Given the description of an element on the screen output the (x, y) to click on. 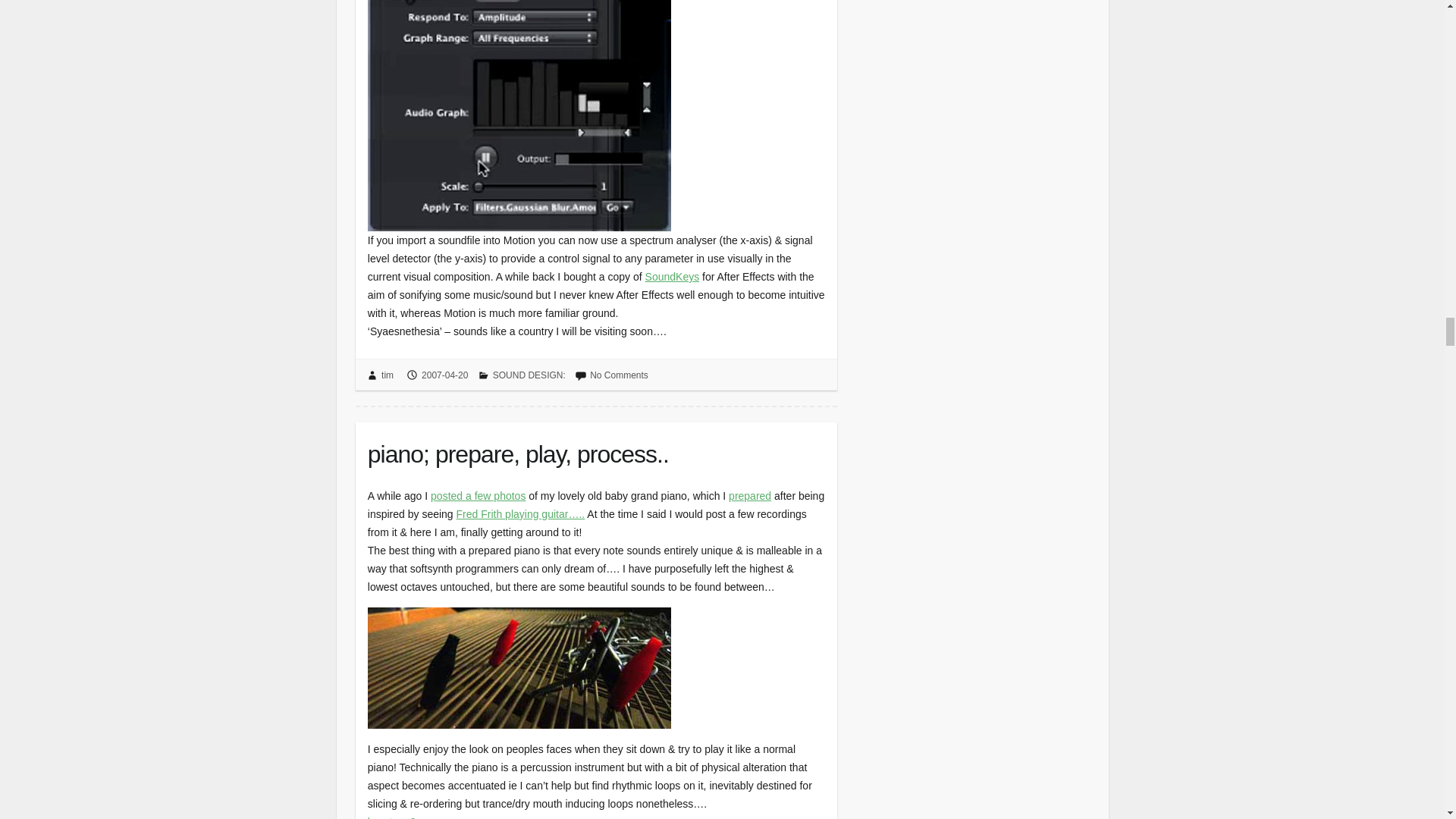
piano; prepare, play, process.. (596, 450)
